Given the description of an element on the screen output the (x, y) to click on. 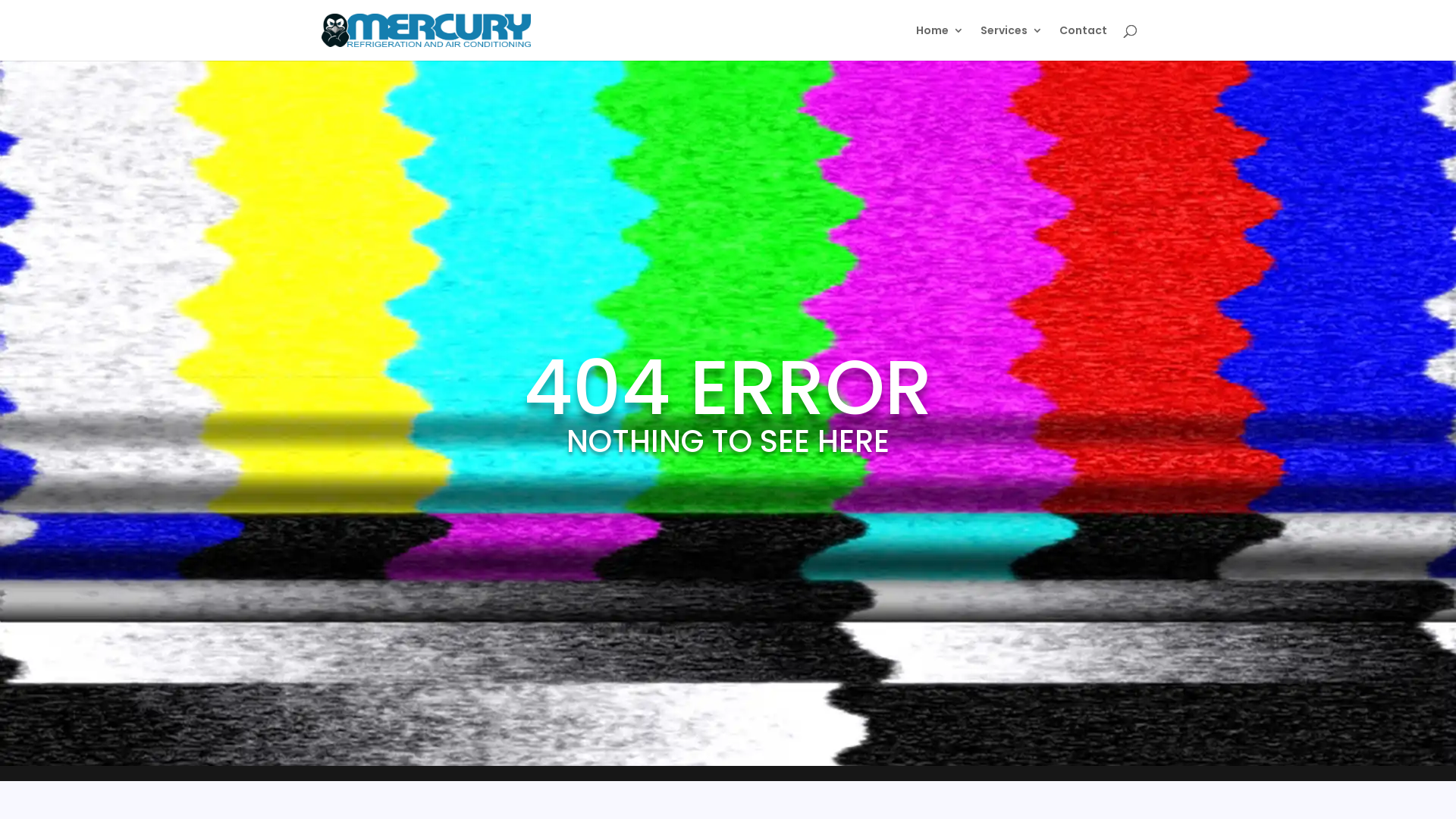
Contact Element type: text (1083, 42)
Services Element type: text (1011, 42)
Home Element type: text (939, 42)
